Given the description of an element on the screen output the (x, y) to click on. 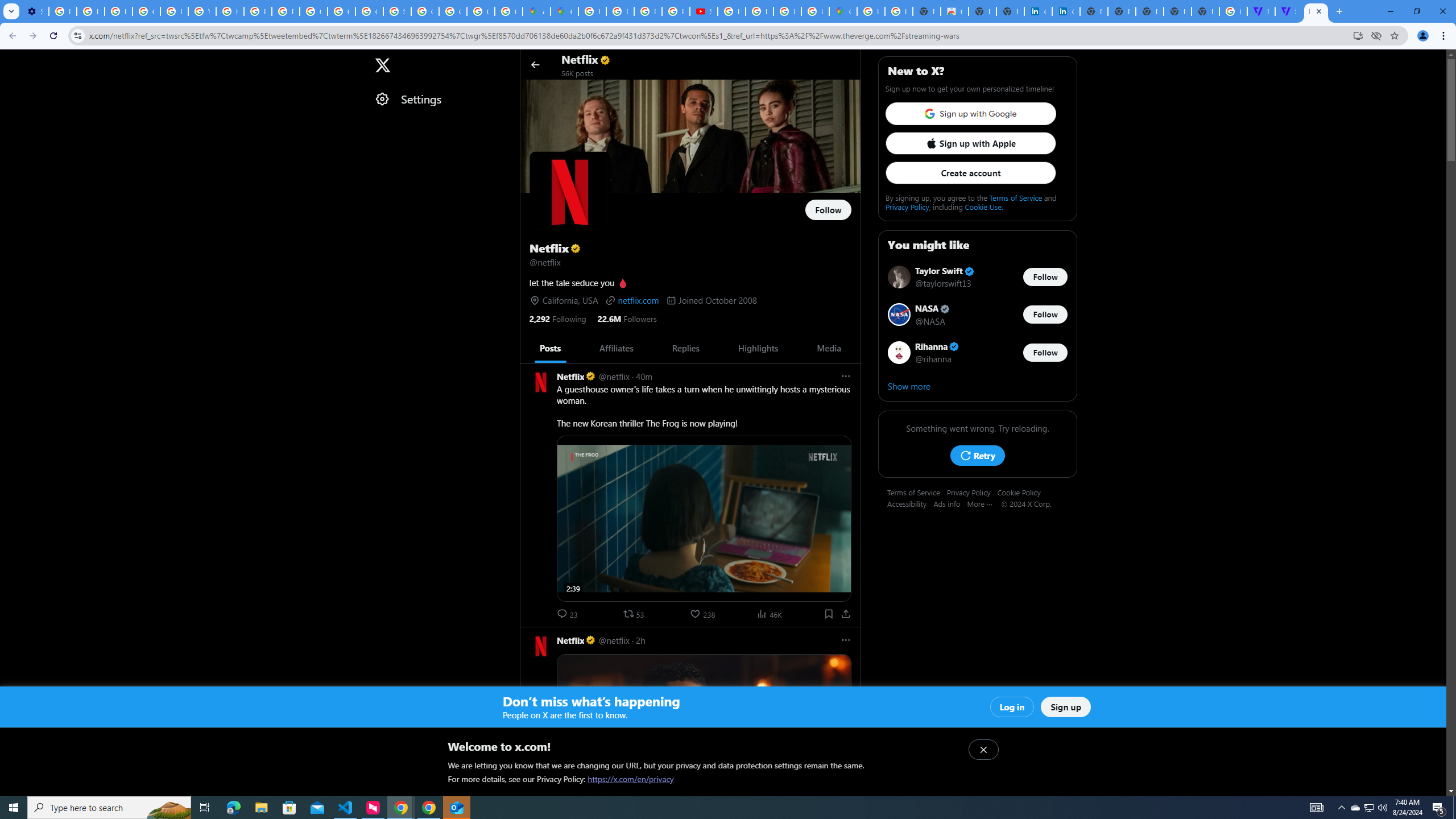
Delete photos & videos - Computer - Google Photos Help (62, 11)
Privacy Help Center - Policies Help (647, 11)
Play Video (703, 800)
Provides details about verified accounts. (575, 247)
Google Maps (842, 11)
Follow @taylorswift13 (1045, 276)
Subscriptions - YouTube (703, 11)
Chrome Web Store (955, 11)
Create account (970, 172)
Retry (976, 455)
Affiliates (615, 347)
https://x.com/en/privacy (631, 778)
